Given the description of an element on the screen output the (x, y) to click on. 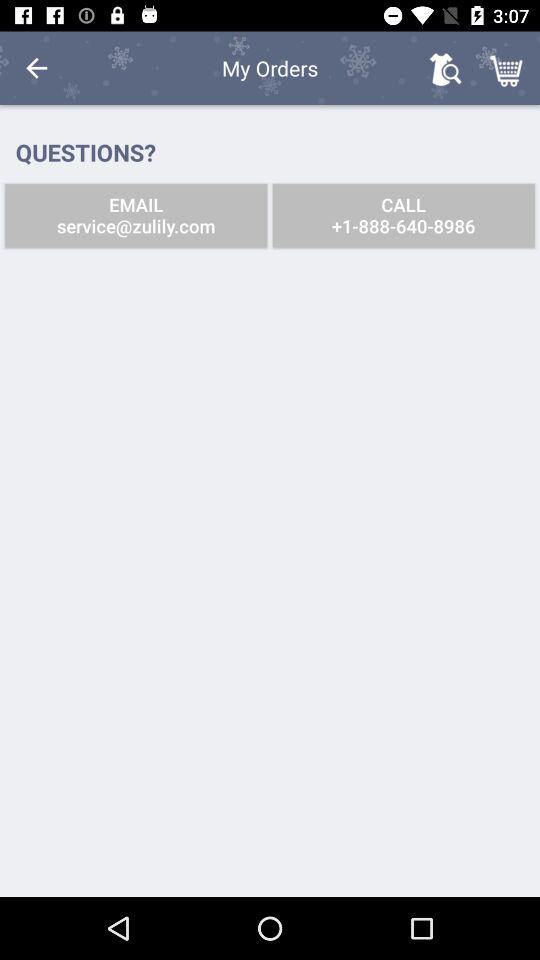
turn off email service zulily (136, 215)
